Given the description of an element on the screen output the (x, y) to click on. 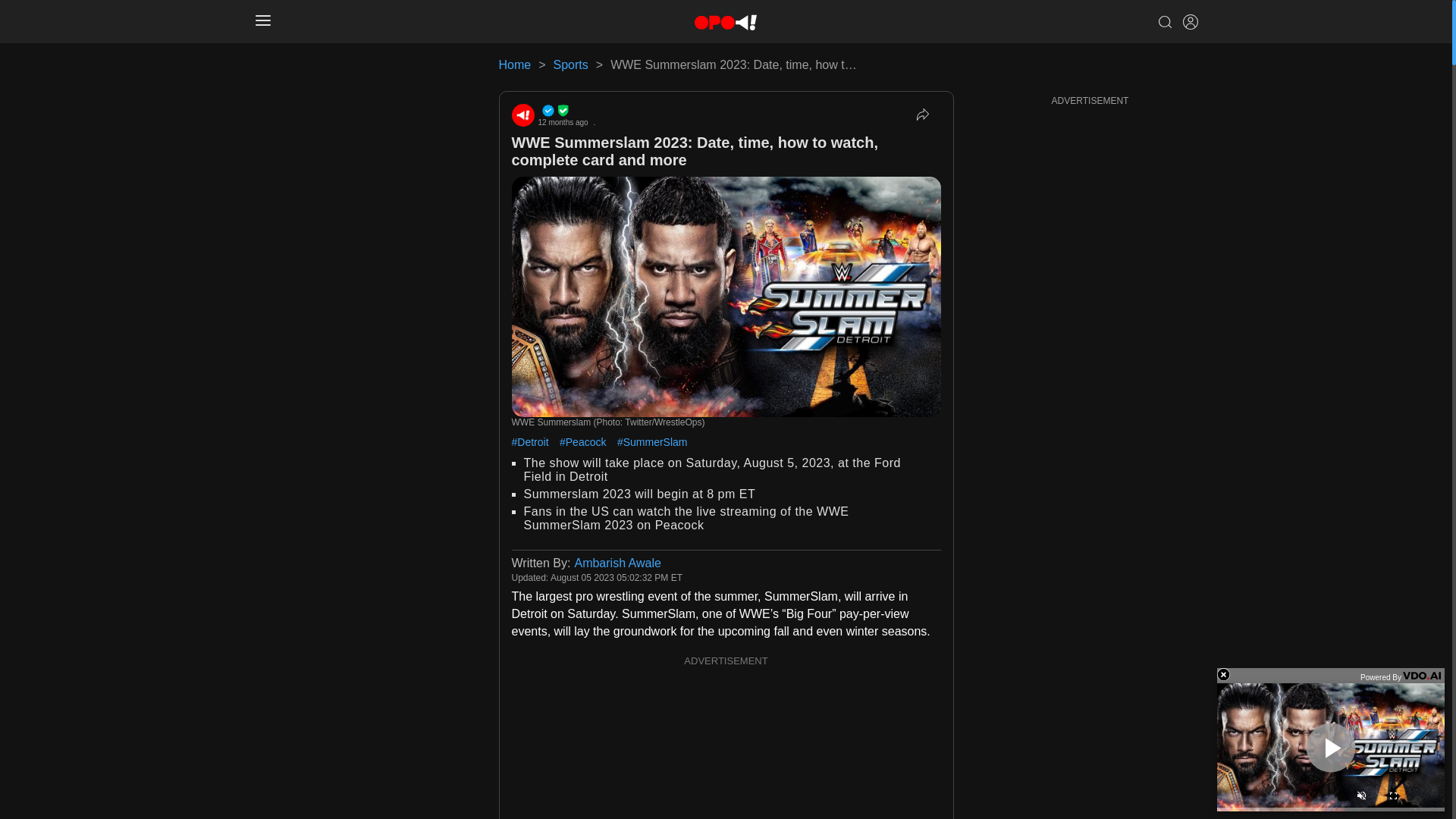
Ambarish Awale (617, 562)
Fullscreen (1392, 797)
Unmute (1360, 797)
Play (1330, 747)
Home (515, 64)
Sports (570, 64)
3rd party ad content (726, 744)
